Given the description of an element on the screen output the (x, y) to click on. 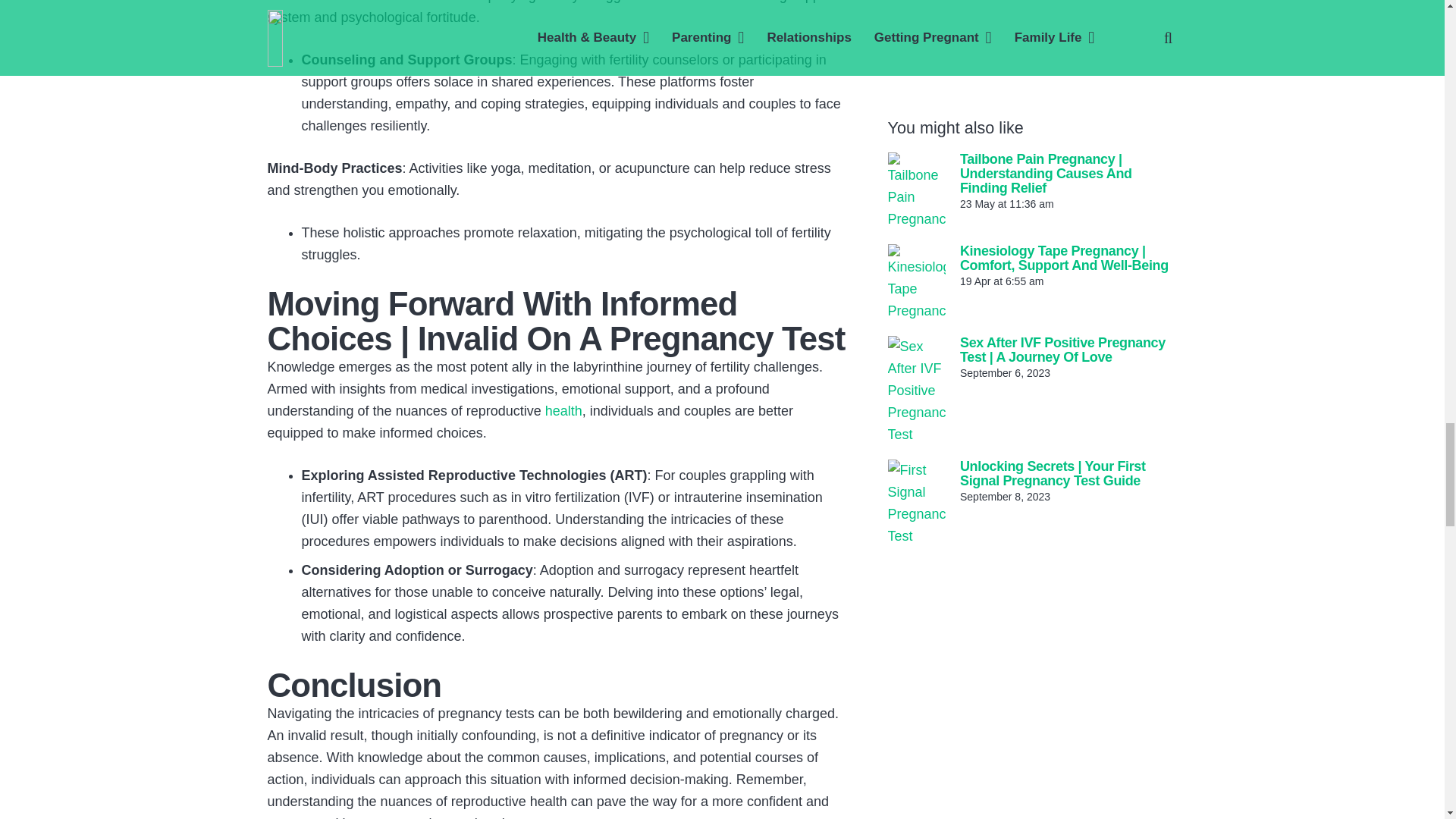
health (561, 410)
